Given the description of an element on the screen output the (x, y) to click on. 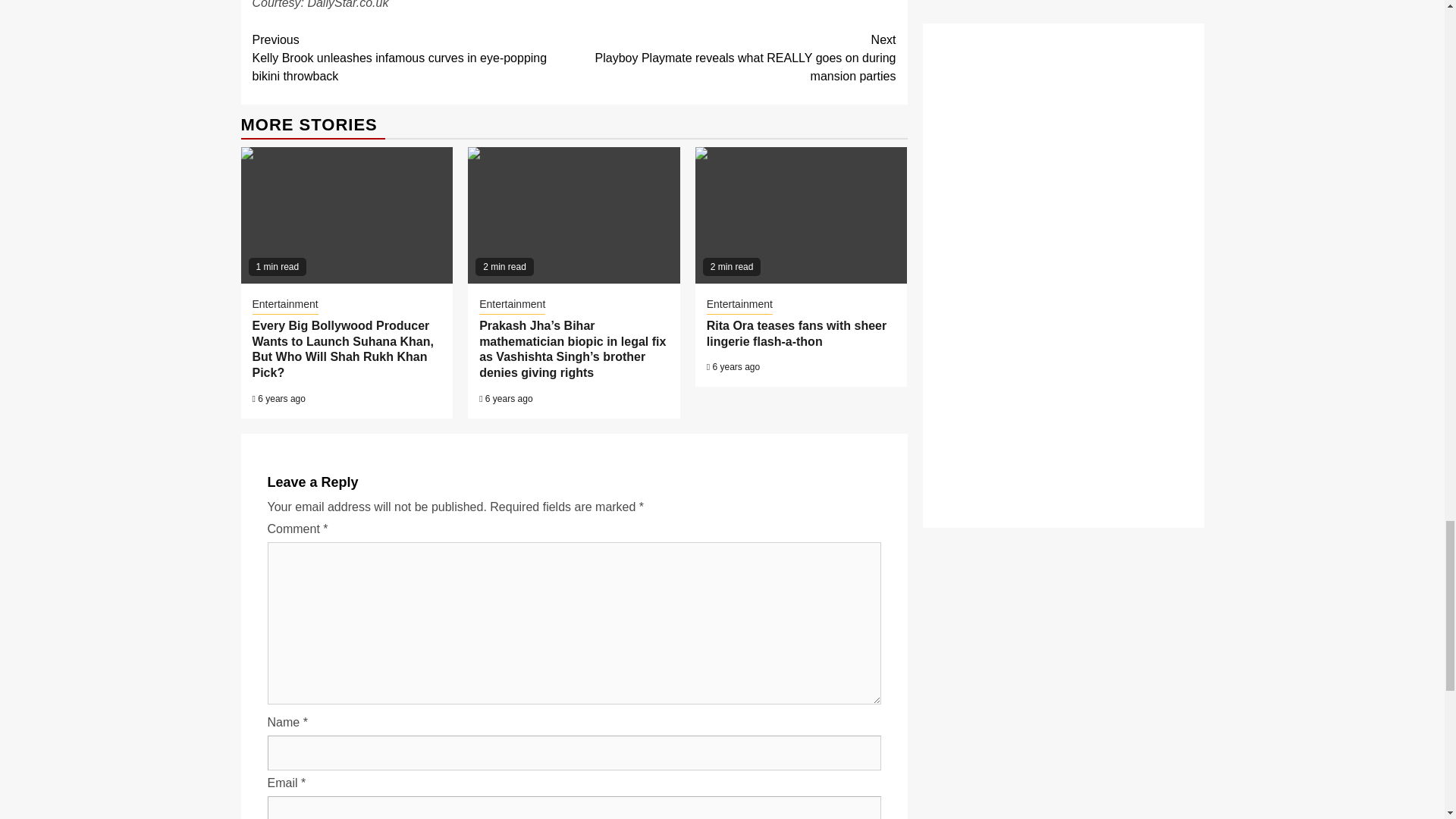
Entertainment (284, 305)
Rita Ora teases fans with sheer lingerie flash-a-thon (801, 215)
Entertainment (511, 305)
